Given the description of an element on the screen output the (x, y) to click on. 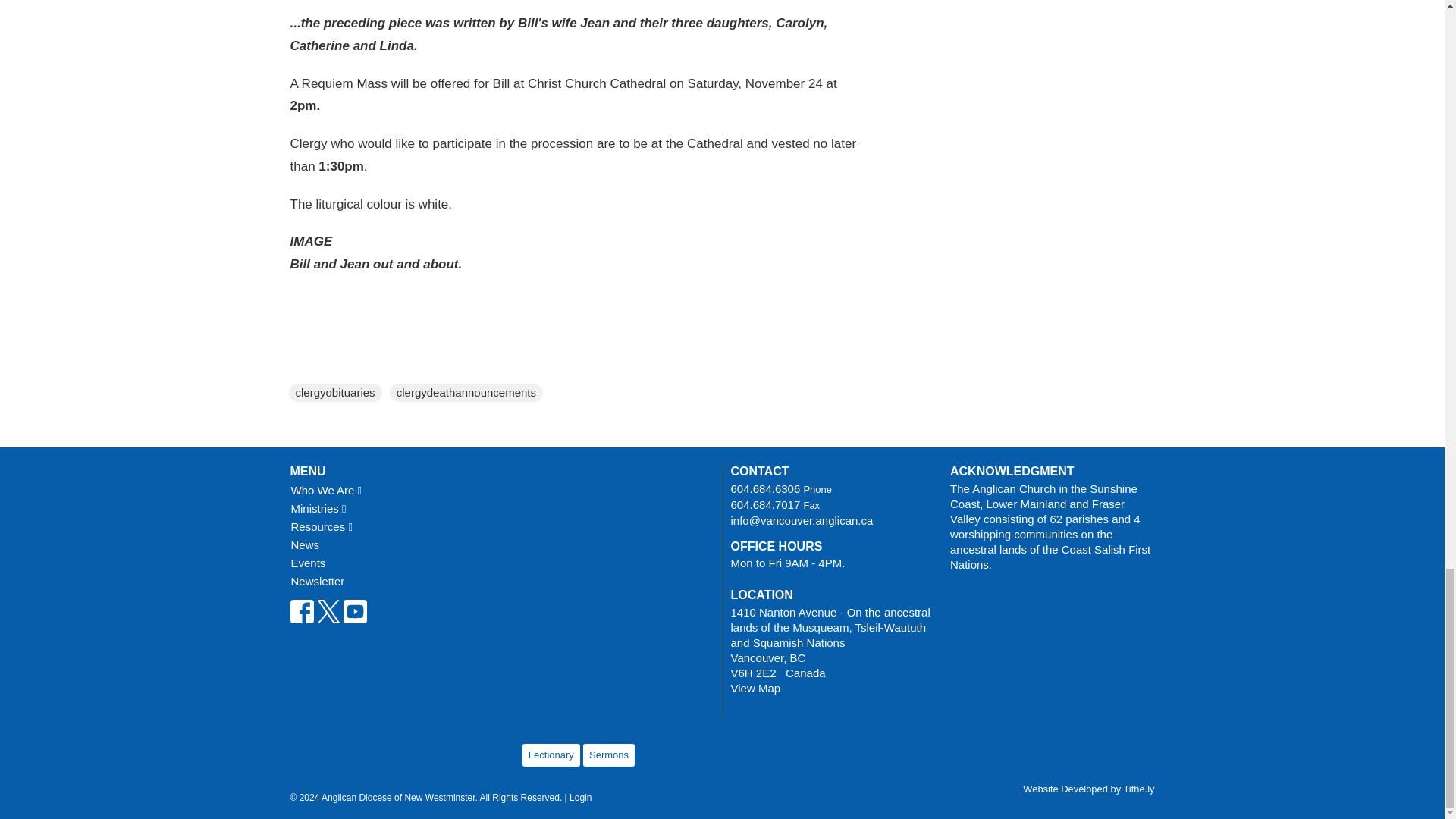
clergydeathannouncements (465, 392)
Twitter Icon (328, 611)
Facebook Icon (301, 611)
clergyobituaries (335, 392)
Youtube Icon (354, 611)
